Given the description of an element on the screen output the (x, y) to click on. 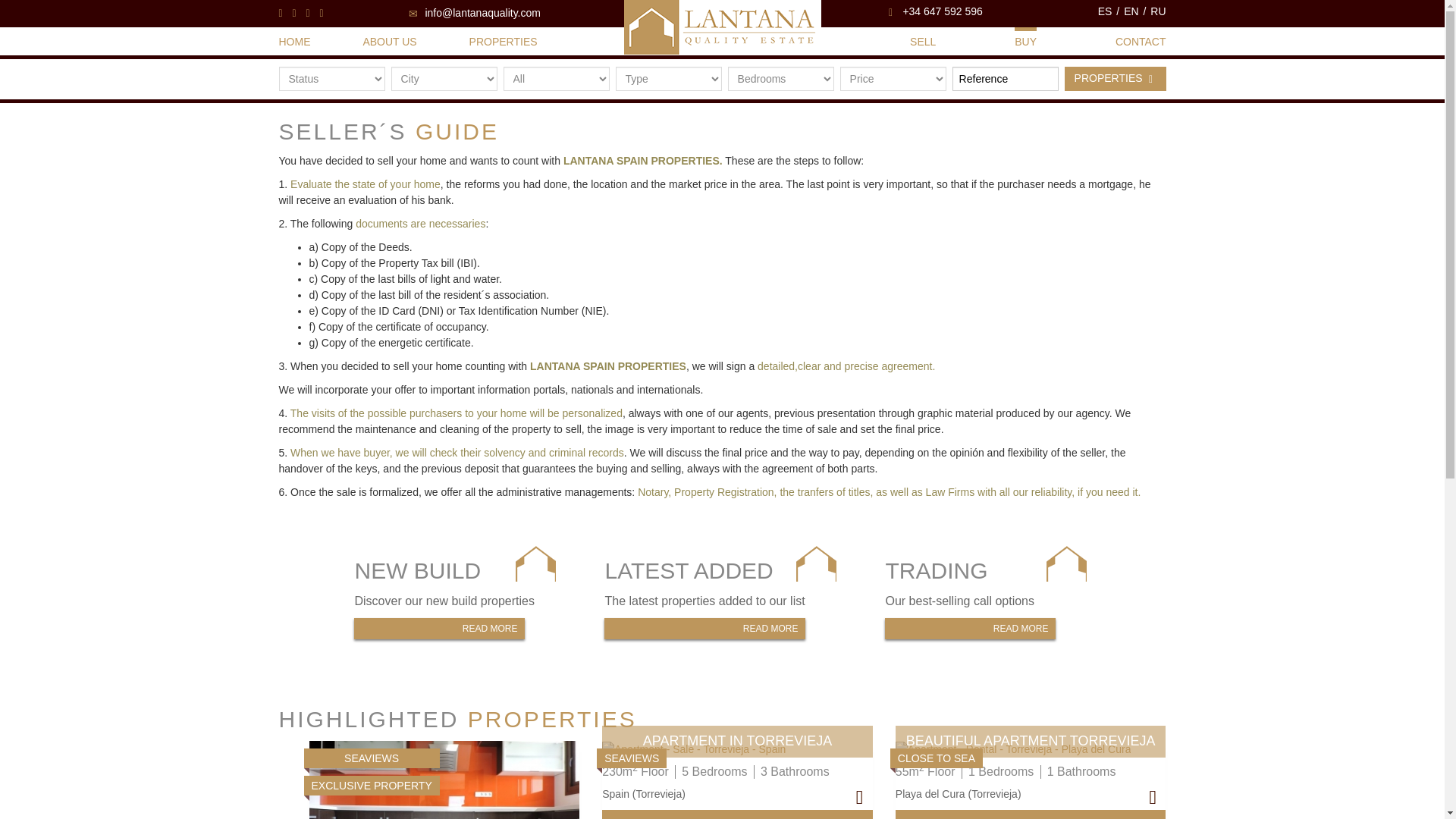
PROPERTIES (1115, 78)
Apartment - Rental - Torrevieja - Playa del Cura (1013, 749)
HOME (295, 42)
SELL (923, 42)
RU (1158, 10)
BUY (1025, 42)
EN (1131, 10)
Apartment - Sale - Torrevieja - Spain (694, 749)
ES (987, 601)
